Given the description of an element on the screen output the (x, y) to click on. 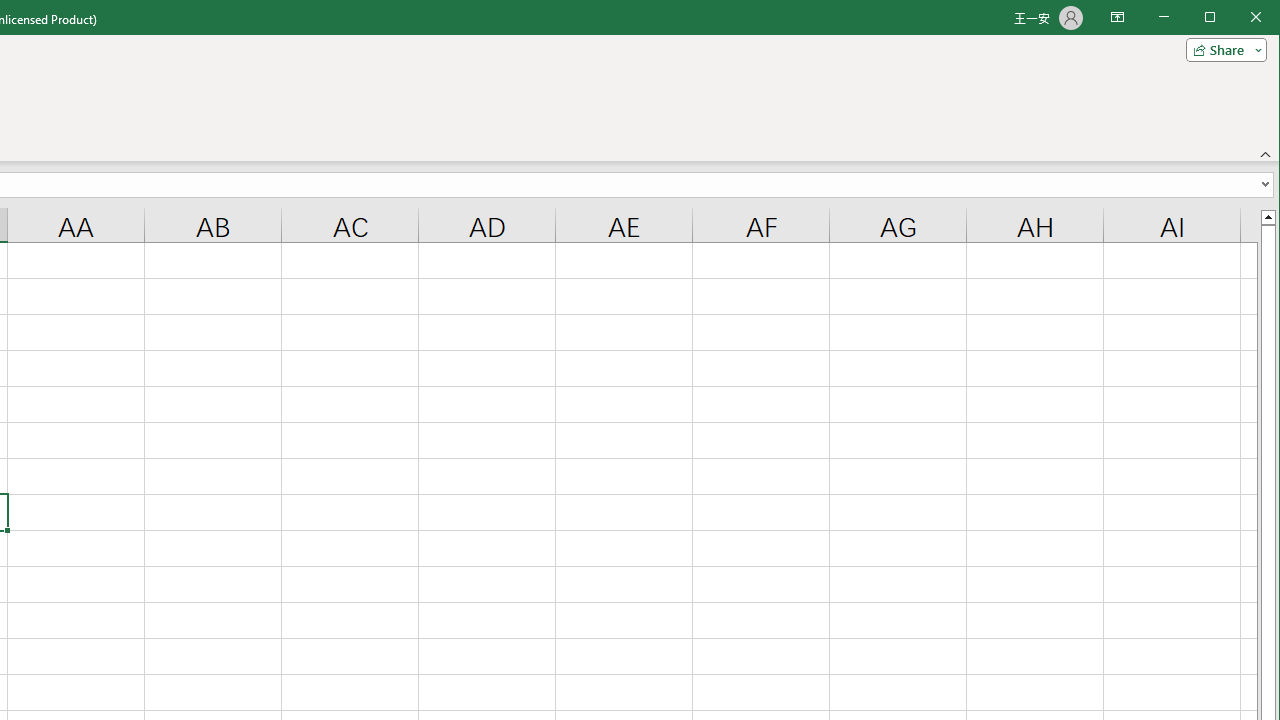
Maximize (1238, 18)
